Given the description of an element on the screen output the (x, y) to click on. 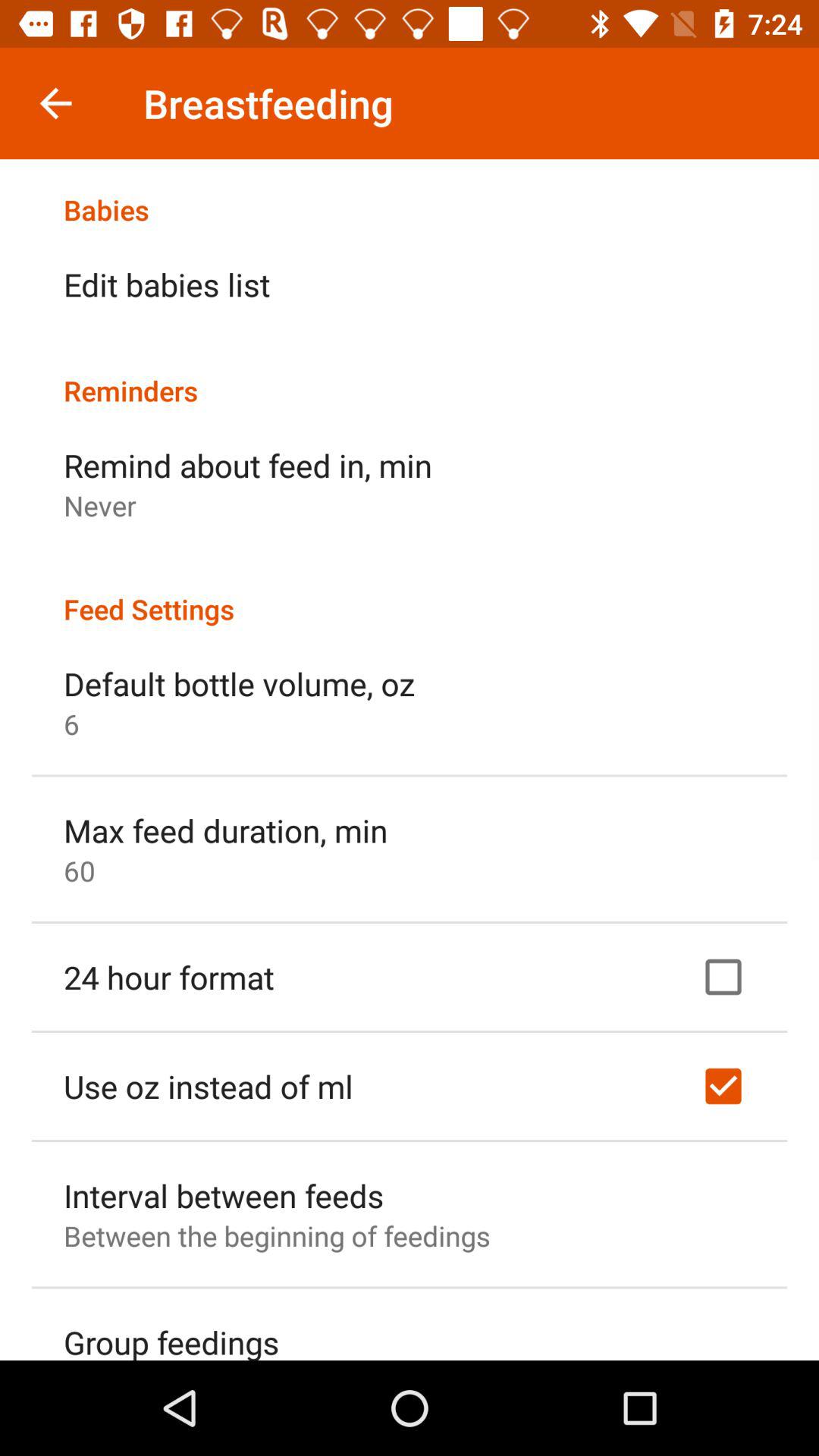
turn on the icon above babies icon (55, 103)
